Given the description of an element on the screen output the (x, y) to click on. 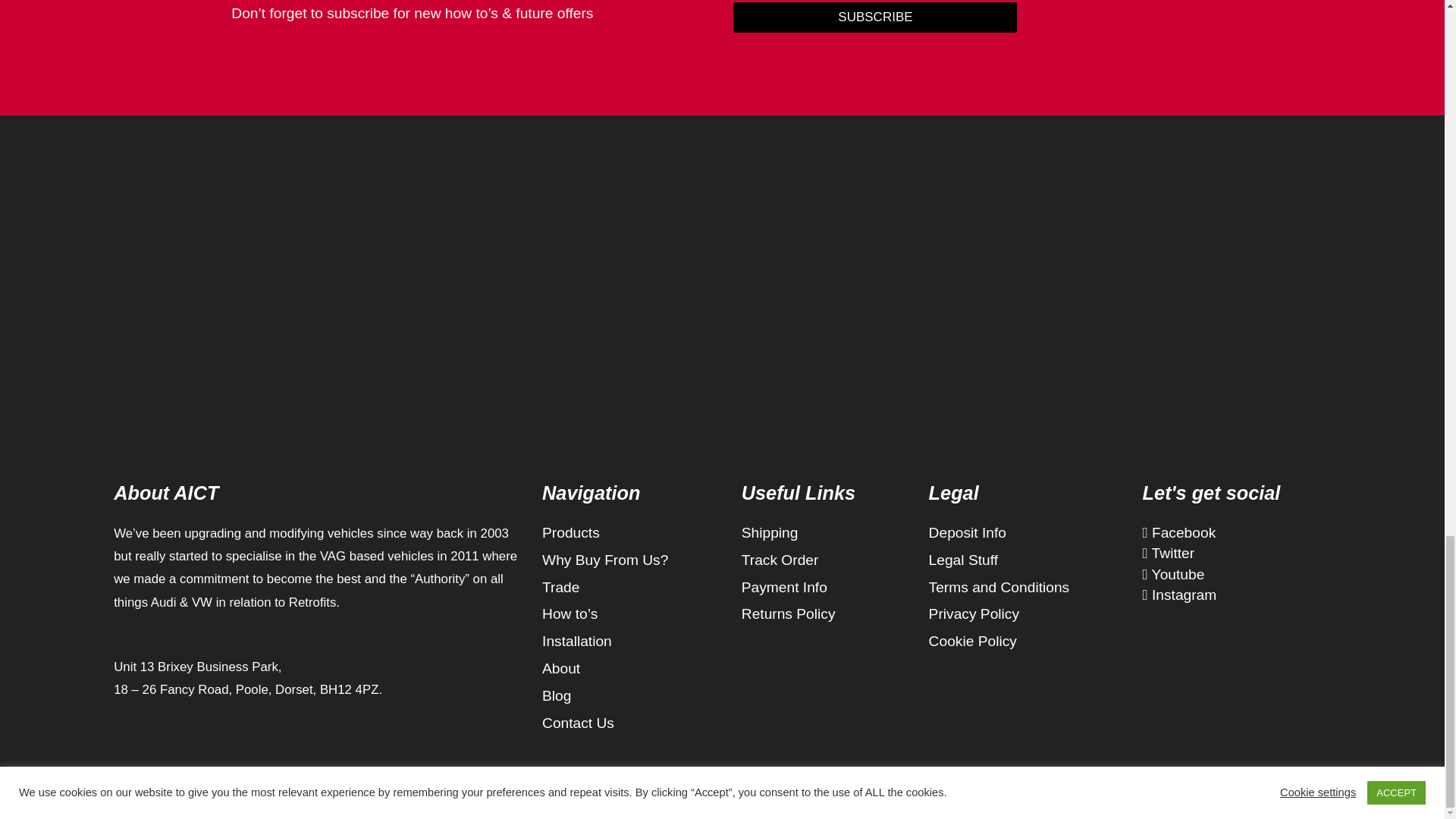
Subscribe (874, 17)
